Given the description of an element on the screen output the (x, y) to click on. 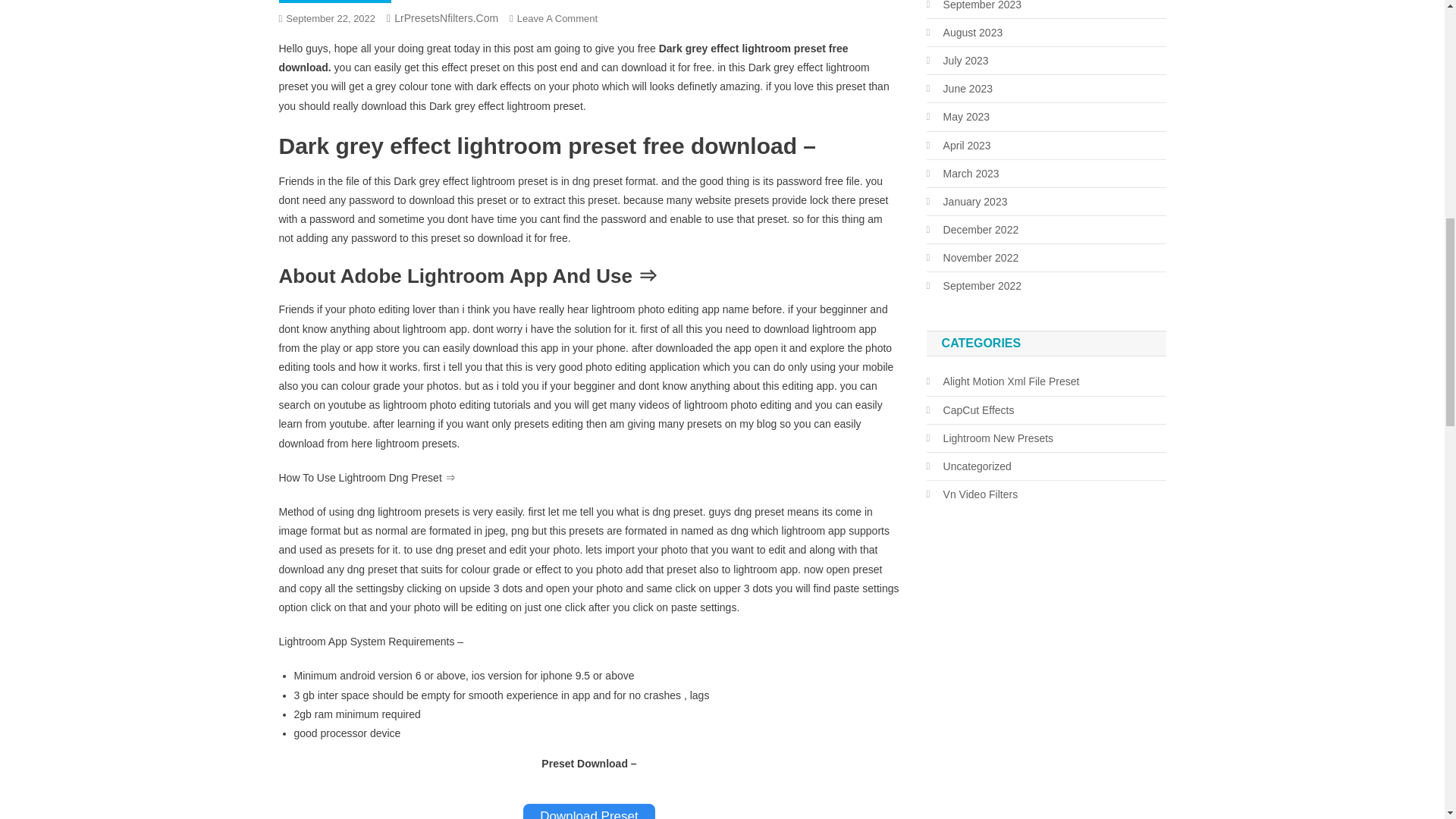
Download Preset (587, 811)
Lightroom New Presets (335, 2)
September 22, 2022 (330, 18)
LrPresetsNfilters.Com (445, 18)
